Given the description of an element on the screen output the (x, y) to click on. 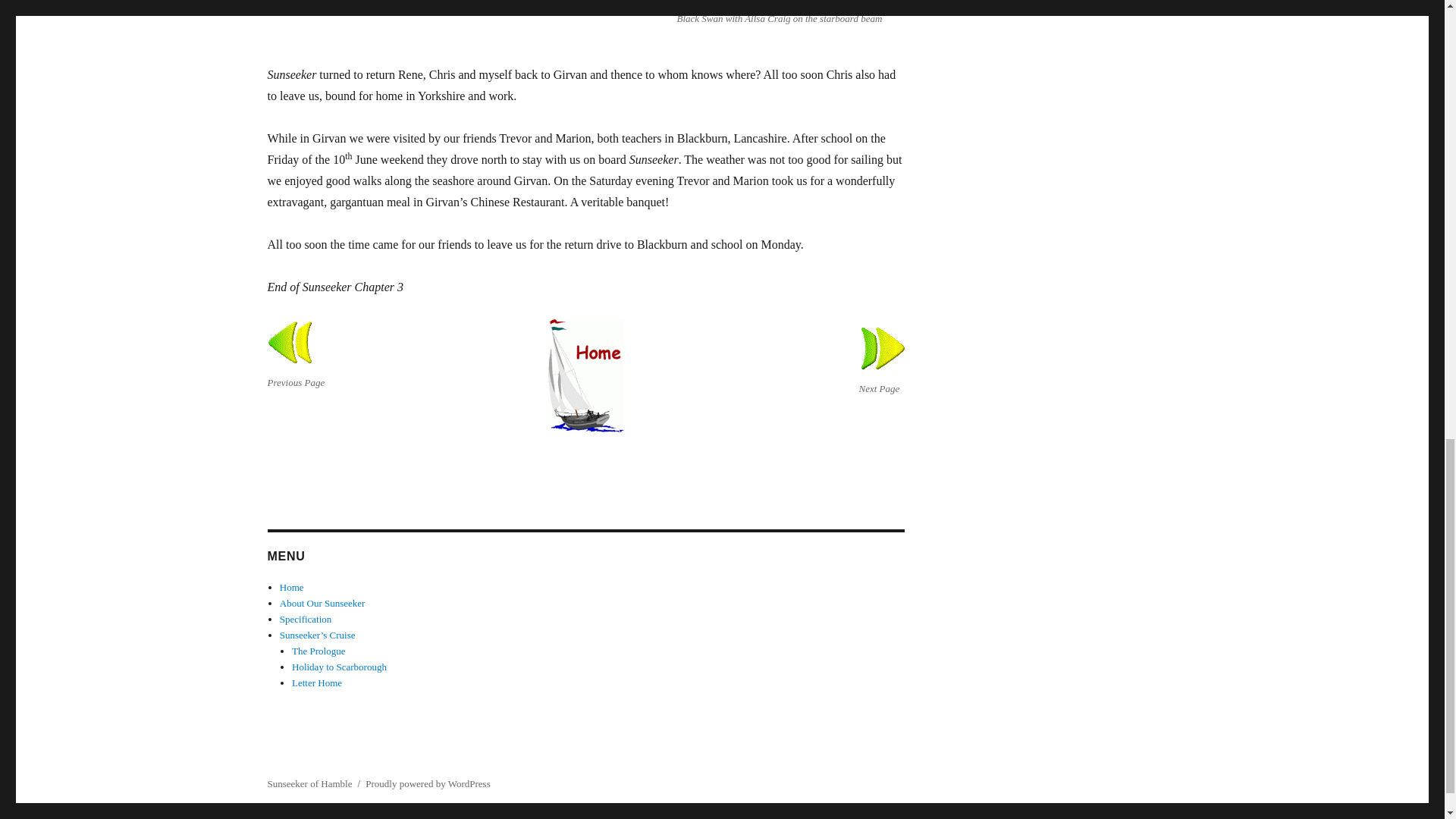
The Prologue (318, 650)
Letter Home (317, 682)
Home (291, 586)
About Our Sunseeker (322, 603)
Holiday to Scarborough (339, 666)
Specification (305, 618)
